Given the description of an element on the screen output the (x, y) to click on. 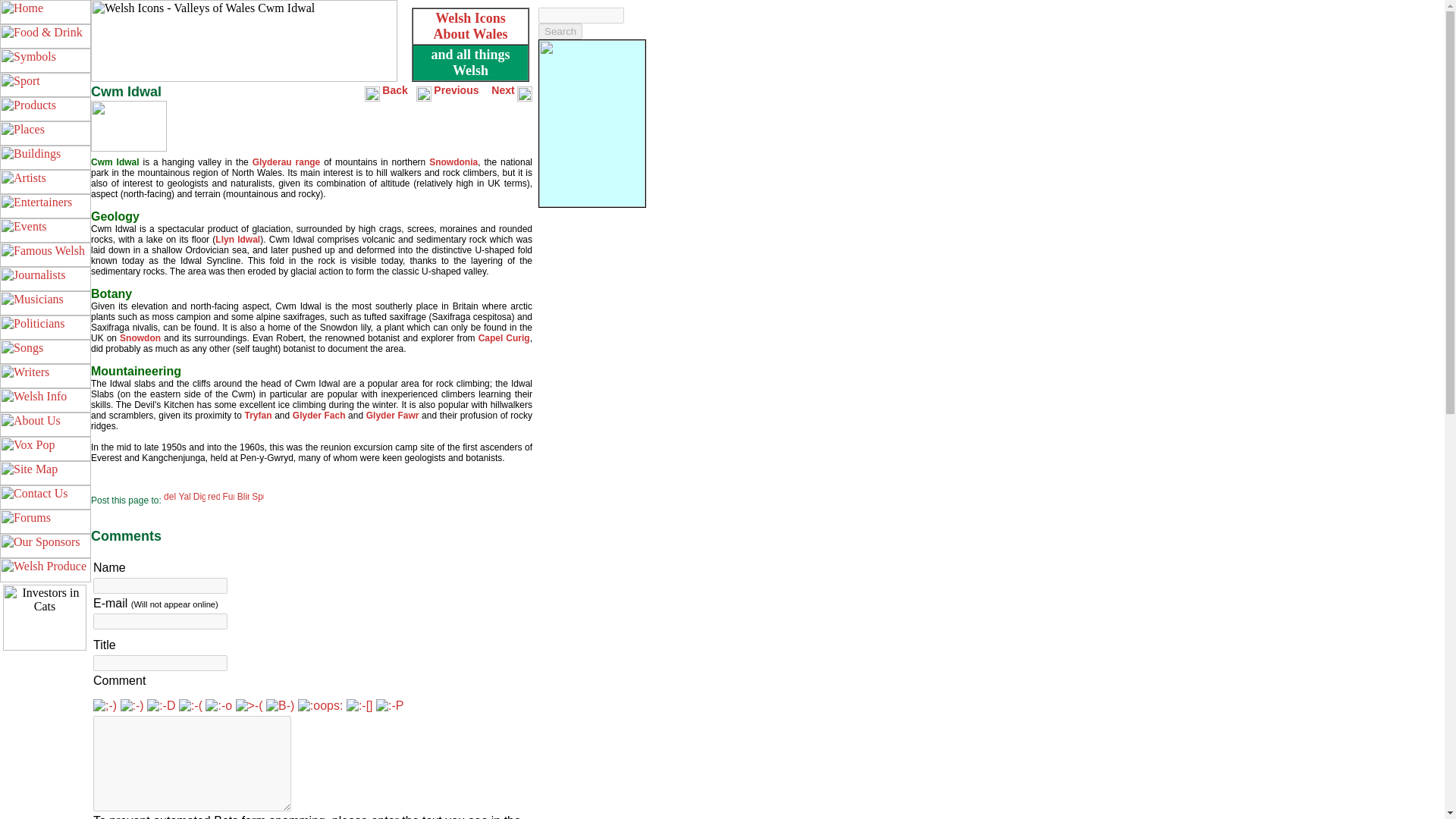
Buildings (45, 157)
Events (45, 230)
Tryfan (258, 415)
Snowdon (139, 337)
Previous (456, 90)
Vox Pop (45, 448)
Symbols (45, 60)
Sport (45, 84)
Politicians (45, 327)
About Us (45, 424)
